Given the description of an element on the screen output the (x, y) to click on. 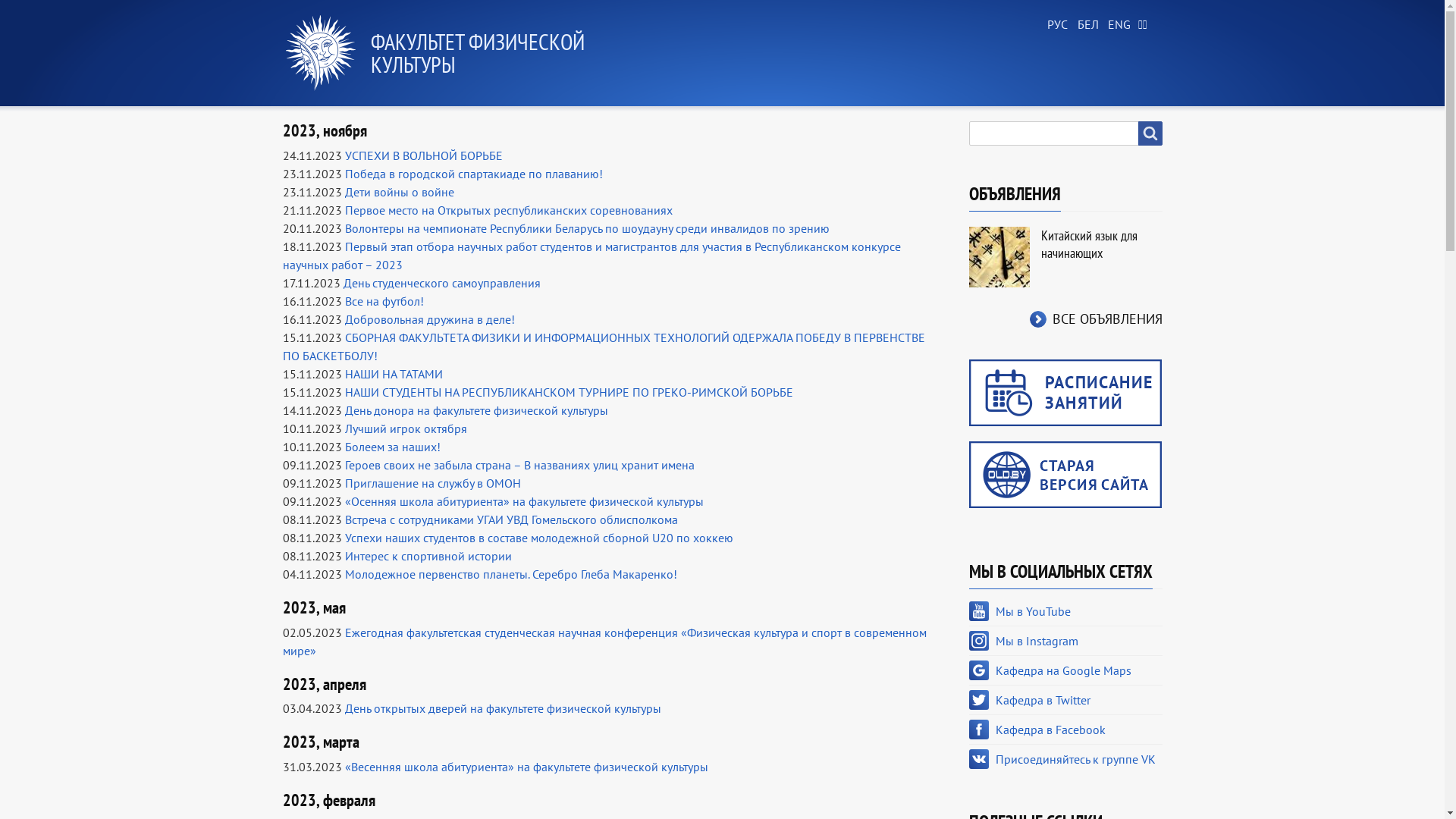
Belarusian Element type: text (1085, 24)
Russian Element type: text (1055, 24)
English Element type: text (1116, 24)
Search Element type: text (1149, 133)
Chinese, Traditional Element type: text (1146, 24)
